Given the description of an element on the screen output the (x, y) to click on. 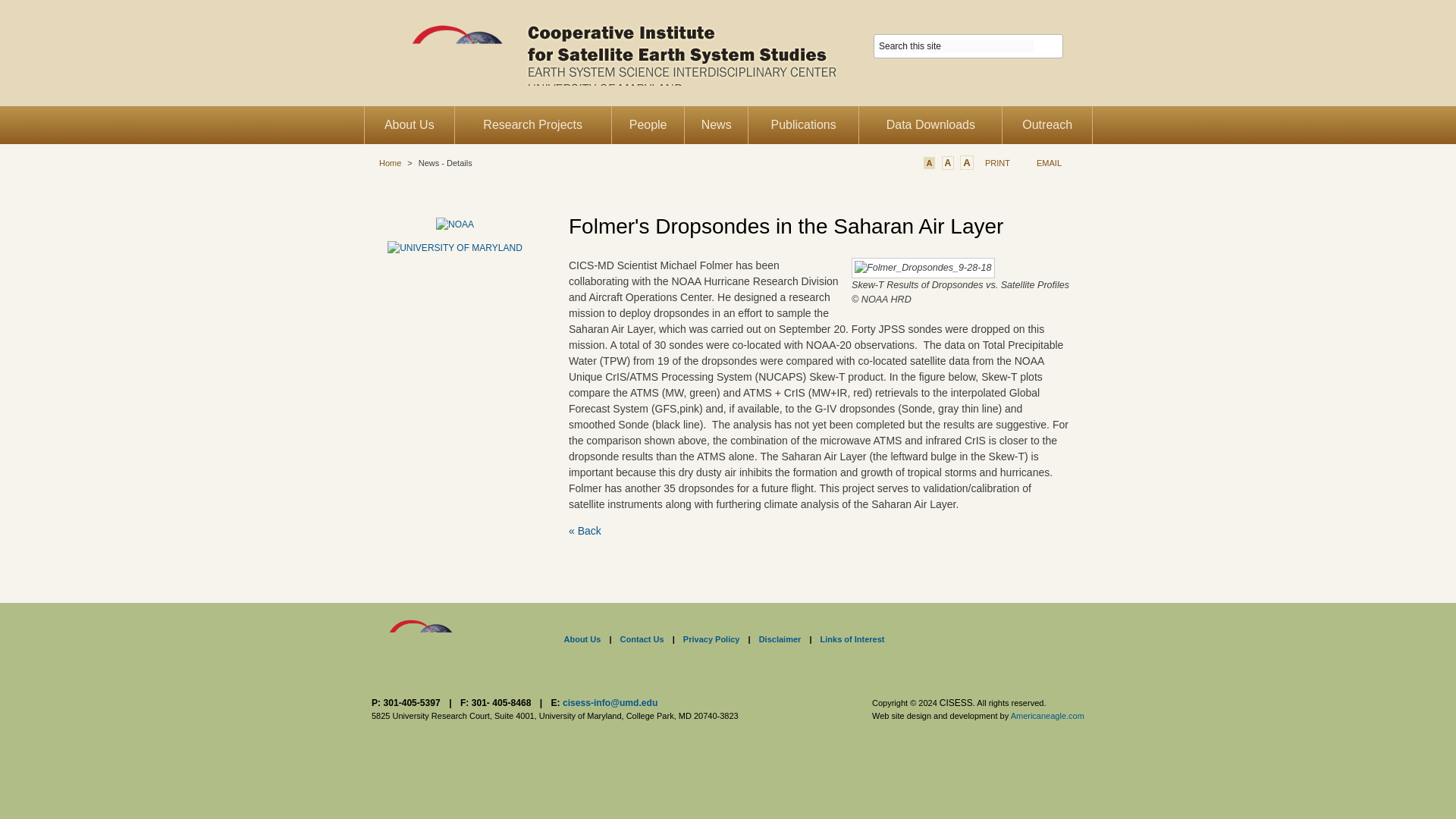
A (929, 162)
People (647, 125)
Outreach (1047, 125)
About Us (409, 125)
Publications (803, 125)
Research Projects (532, 125)
A (948, 162)
News (715, 125)
Search this site (955, 46)
Go (1050, 46)
